Given the description of an element on the screen output the (x, y) to click on. 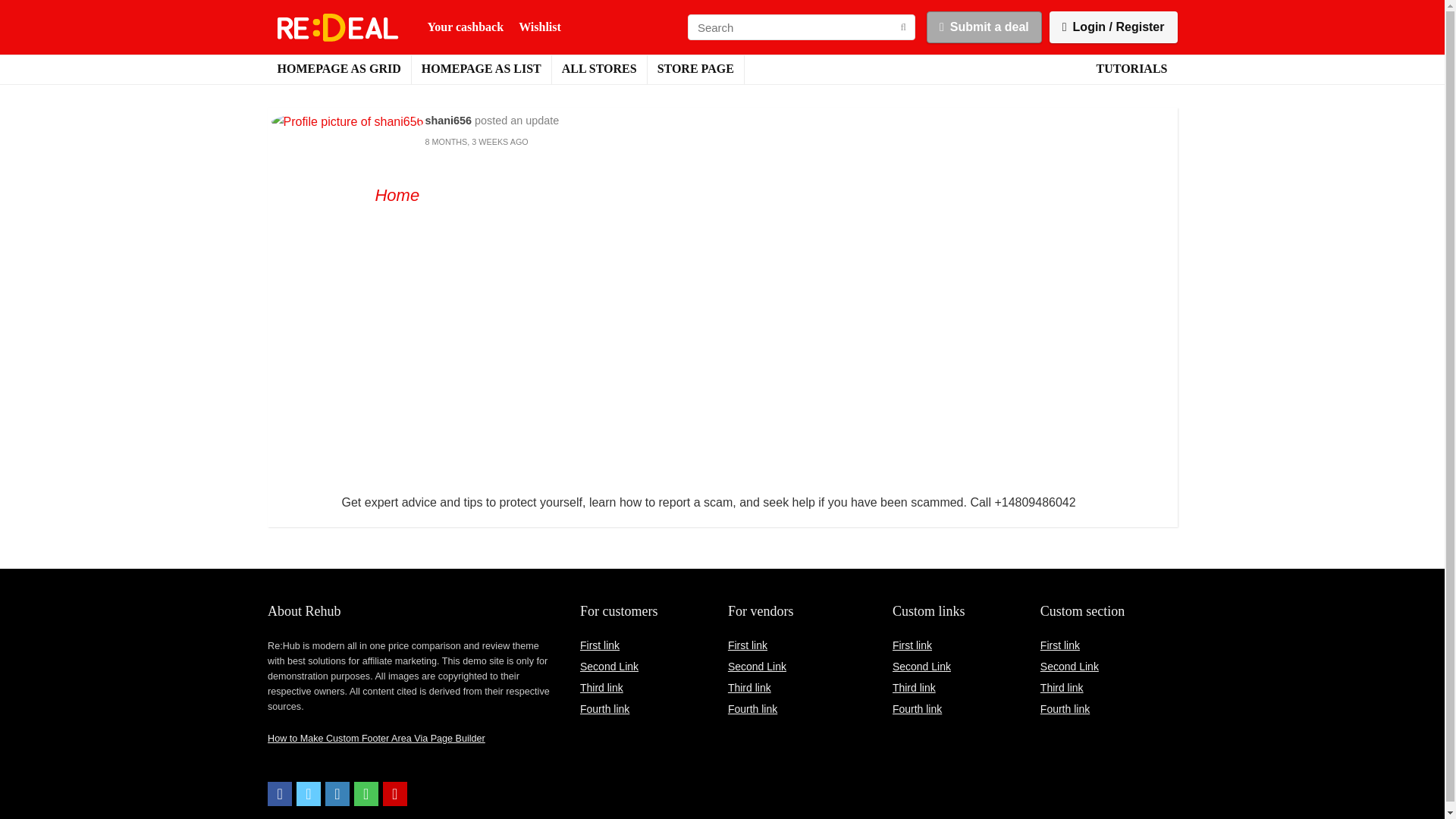
First link (911, 645)
TUTORIALS (1131, 69)
Second Link (921, 666)
Second Link (609, 666)
STORE PAGE (695, 69)
Fourth link (1065, 708)
HOMEPAGE AS LIST (481, 69)
Fourth link (752, 708)
Second Link (757, 666)
Fourth link (603, 708)
HOMEPAGE AS GRID (338, 69)
shani656 (448, 120)
Home (396, 194)
ALL STORES (598, 69)
First link (747, 645)
